Given the description of an element on the screen output the (x, y) to click on. 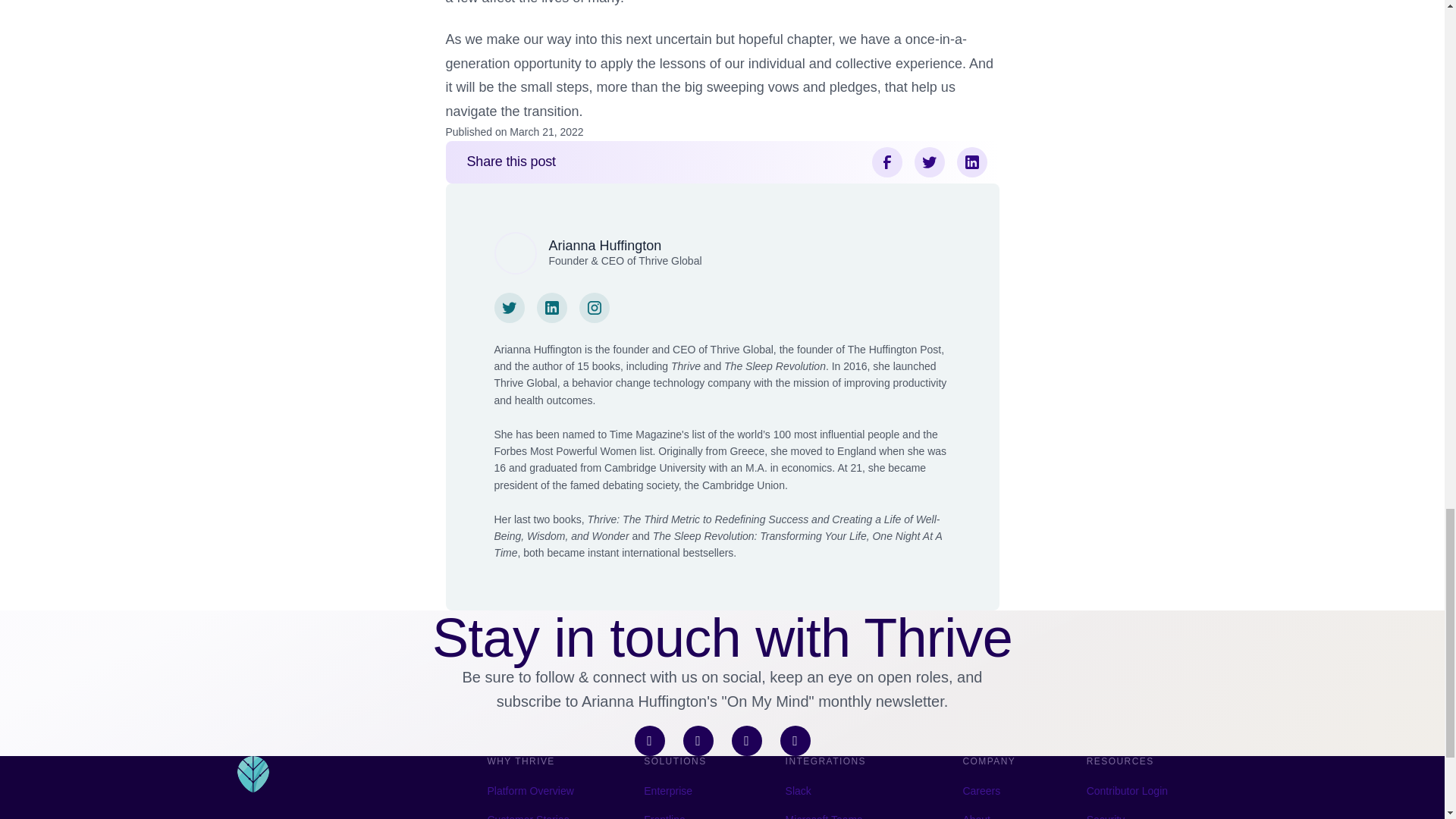
Share on Facebook (887, 162)
Share on Linkedin (971, 162)
Share on Twitter (929, 162)
Arianna Huffington (605, 245)
